Given the description of an element on the screen output the (x, y) to click on. 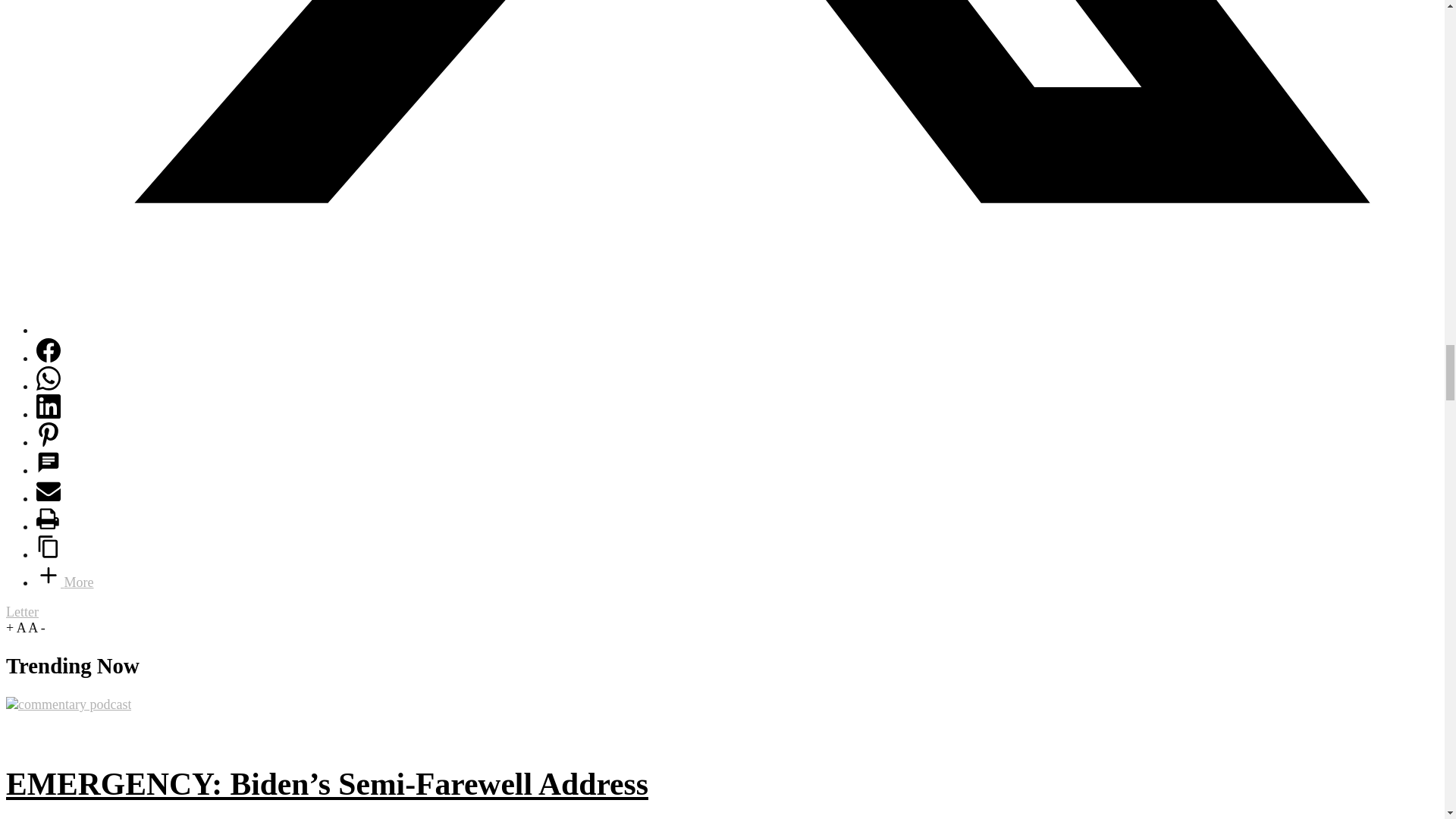
More (65, 581)
Letter (22, 611)
